Given the description of an element on the screen output the (x, y) to click on. 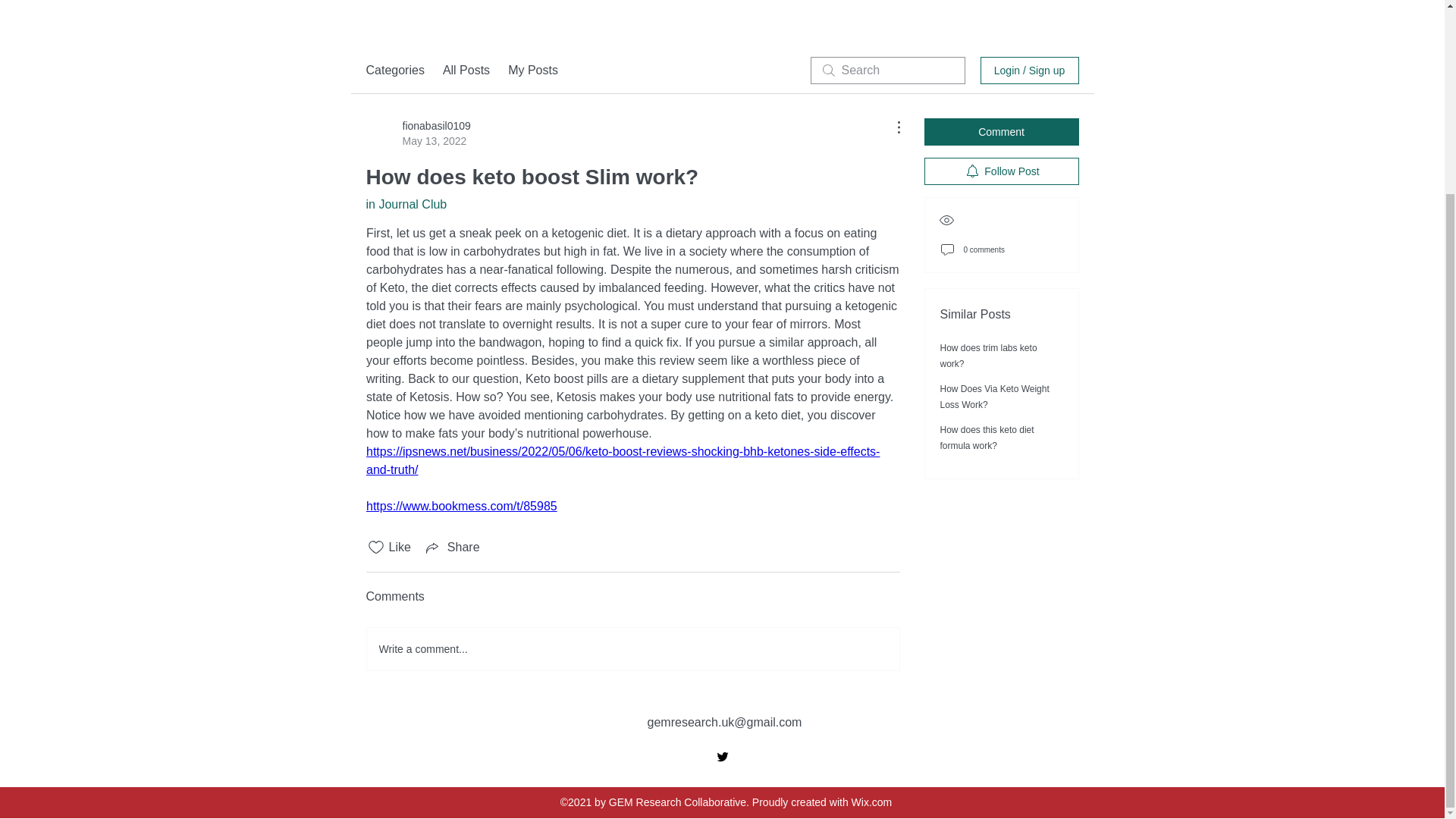
How does trim labs keto work? (988, 356)
All Posts (465, 70)
Comment (1000, 131)
Write a comment... (632, 649)
Follow Post (1000, 171)
My Posts (532, 70)
How Does Via Keto Weight Loss Work? (994, 397)
Categories (394, 70)
How does this keto diet formula work? (986, 438)
Share (451, 547)
in Journal Club (405, 204)
